Given the description of an element on the screen output the (x, y) to click on. 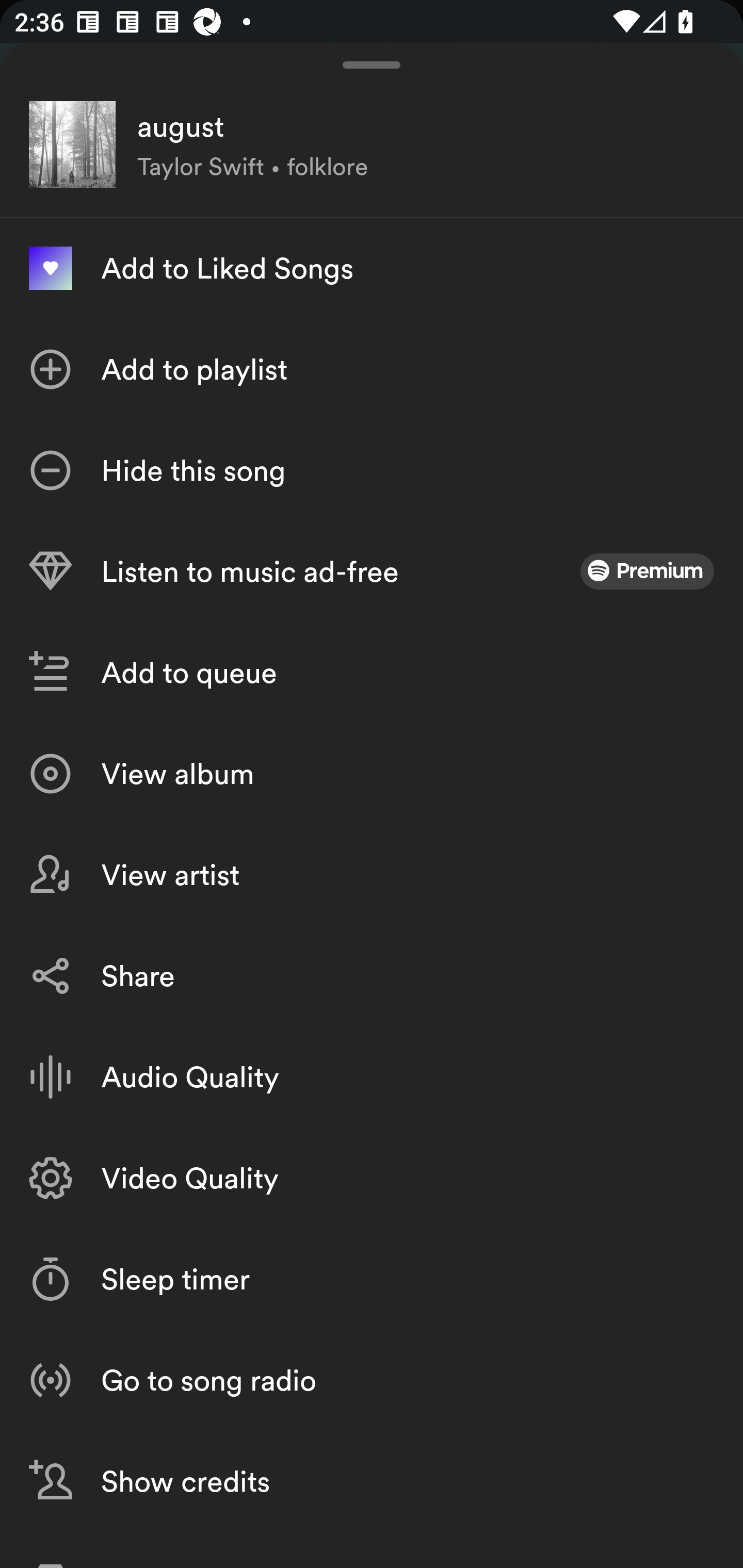
Add to Liked Songs (371, 267)
Add to playlist (371, 369)
Hide this song (371, 470)
Listen to music ad-free (371, 571)
Add to queue (371, 672)
View album (371, 773)
View artist (371, 874)
Share (371, 976)
Audio Quality (371, 1077)
Video Quality (371, 1178)
Sleep timer (371, 1279)
Go to song radio (371, 1379)
Show credits (371, 1480)
